Given the description of an element on the screen output the (x, y) to click on. 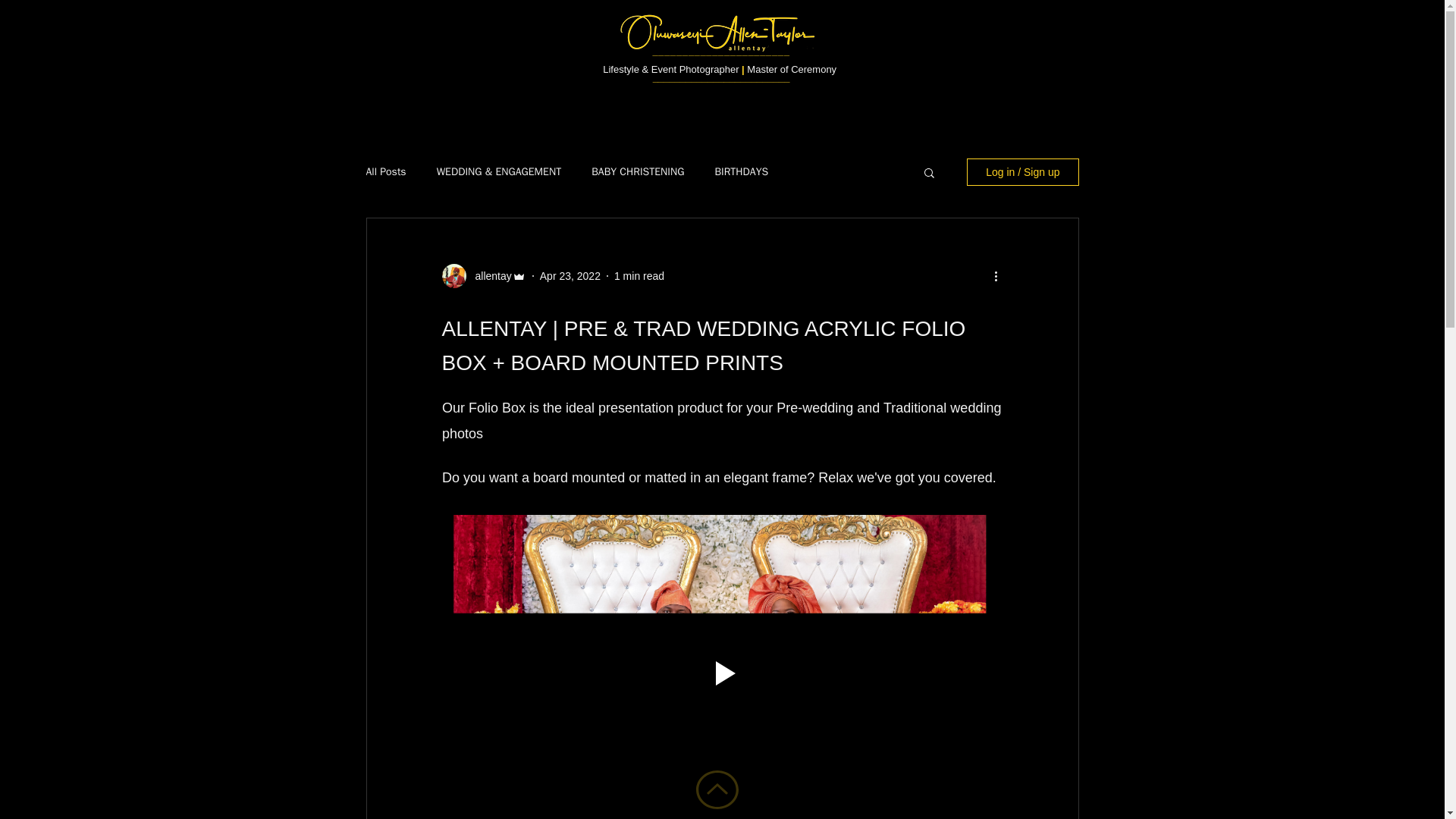
BIRTHDAYS (741, 172)
BABY CHRISTENING (637, 172)
Apr 23, 2022 (569, 275)
All Posts (385, 172)
1 min read (638, 275)
allentay (488, 276)
